Given the description of an element on the screen output the (x, y) to click on. 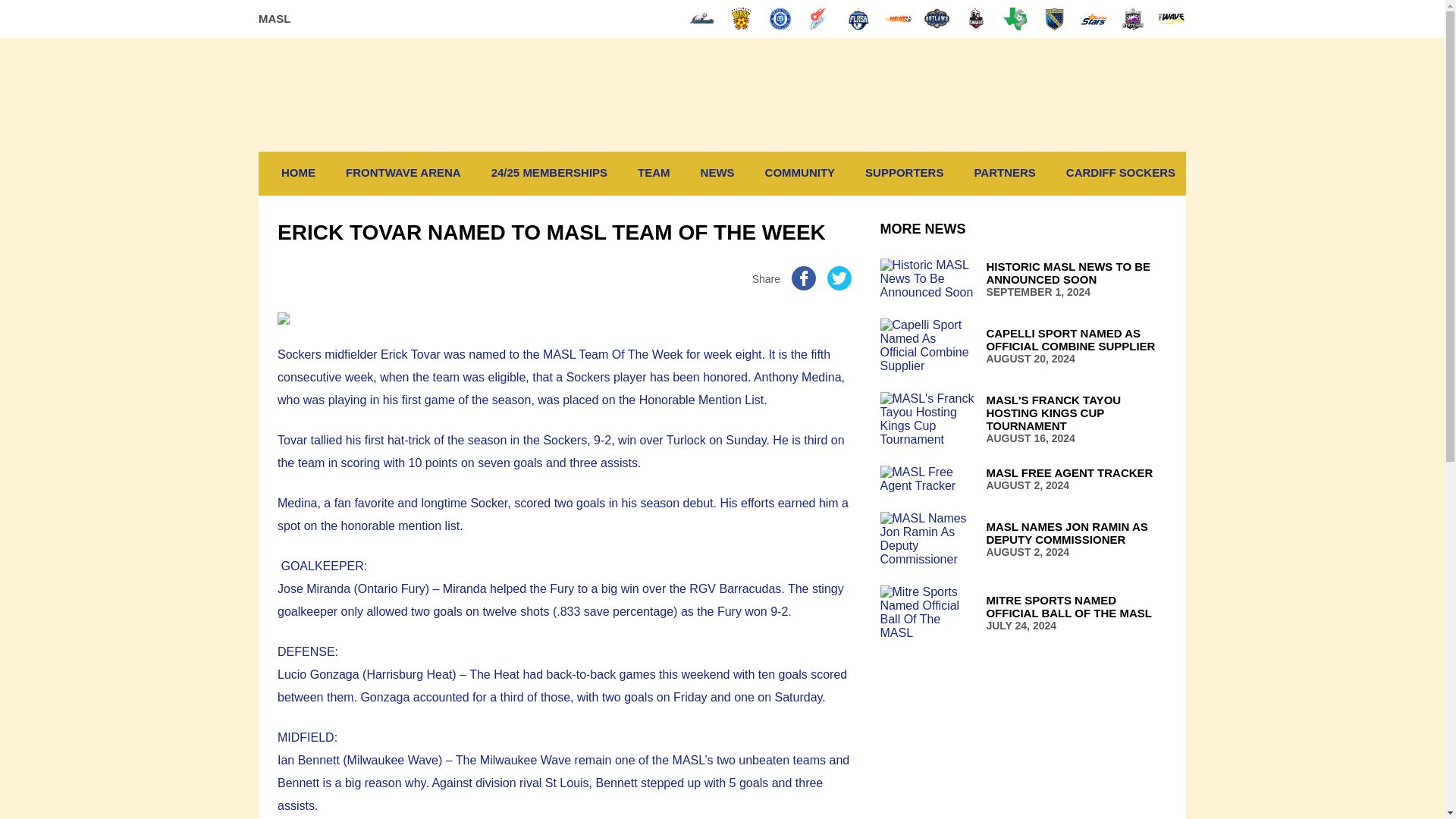
CARDIFF SOCKERS (1120, 172)
HOME (1023, 278)
FRONTWAVE ARENA (297, 172)
SUPPORTERS (402, 172)
PARTNERS (904, 172)
MASL (1004, 172)
